Given the description of an element on the screen output the (x, y) to click on. 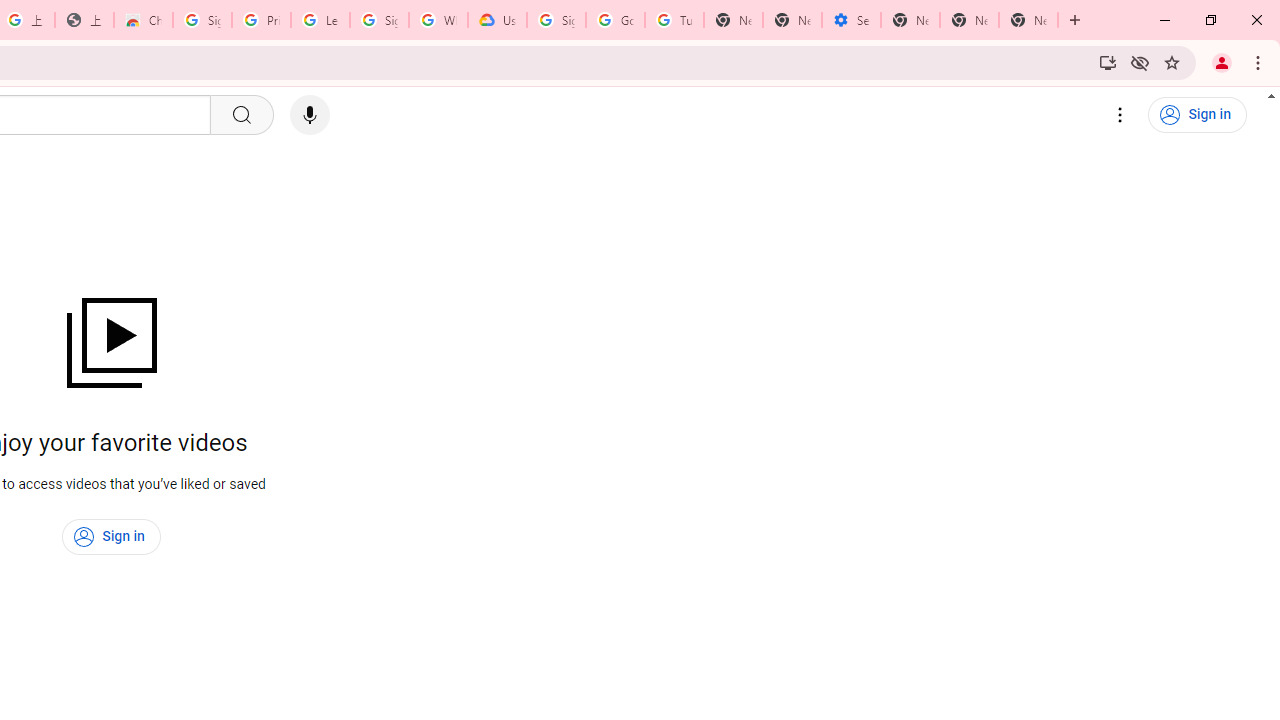
Who are Google's partners? - Privacy and conditions - Google (438, 20)
New Tab (1028, 20)
Turn cookies on or off - Computer - Google Account Help (674, 20)
New Tab (909, 20)
Sign in - Google Accounts (379, 20)
Search with your voice (309, 115)
